Given the description of an element on the screen output the (x, y) to click on. 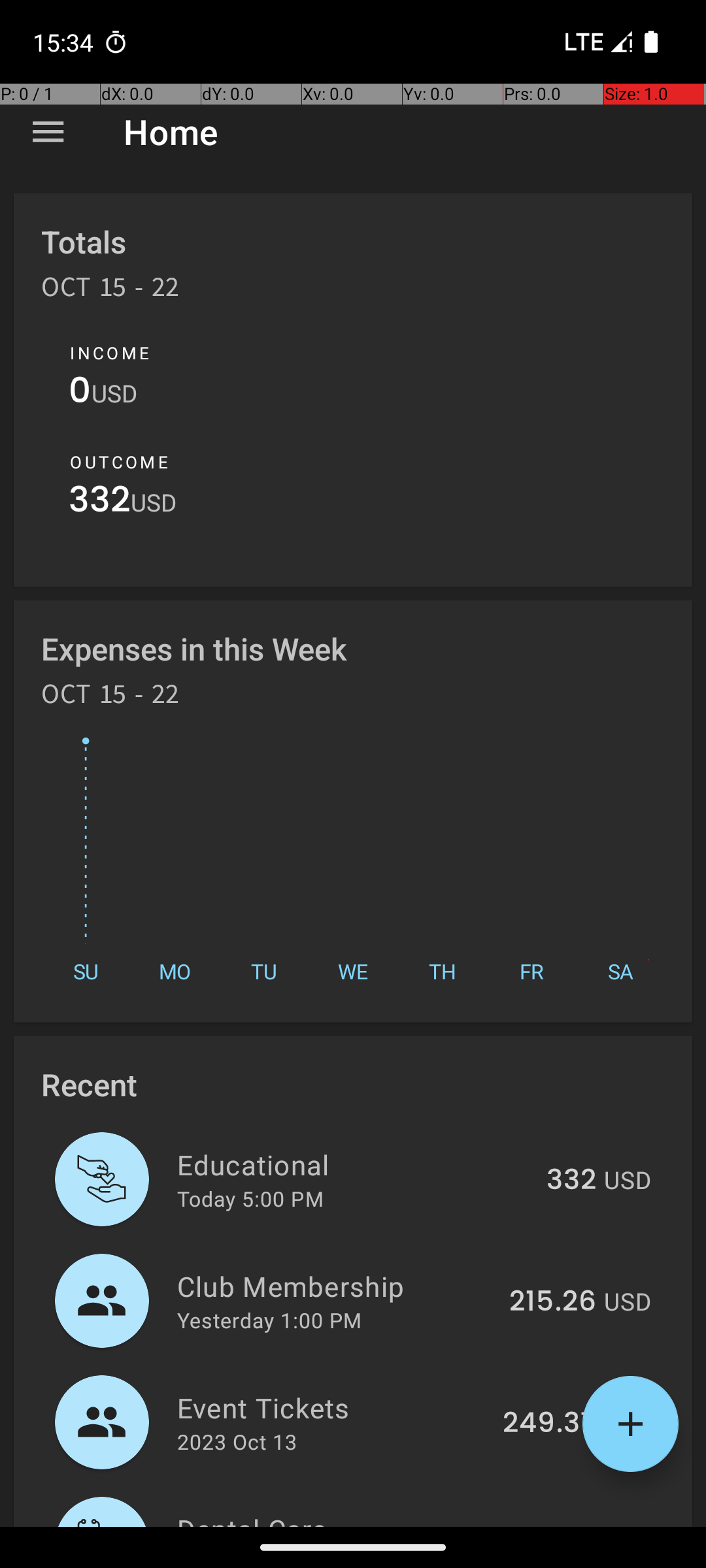
332 Element type: android.widget.TextView (99, 502)
Educational Element type: android.widget.TextView (354, 1164)
Club Membership Element type: android.widget.TextView (335, 1285)
Yesterday 1:00 PM Element type: android.widget.TextView (269, 1320)
215.26 Element type: android.widget.TextView (552, 1301)
Event Tickets Element type: android.widget.TextView (332, 1407)
249.37 Element type: android.widget.TextView (549, 1423)
Dental Care Element type: android.widget.TextView (339, 1518)
92.64 Element type: android.widget.TextView (556, 1524)
